Given the description of an element on the screen output the (x, y) to click on. 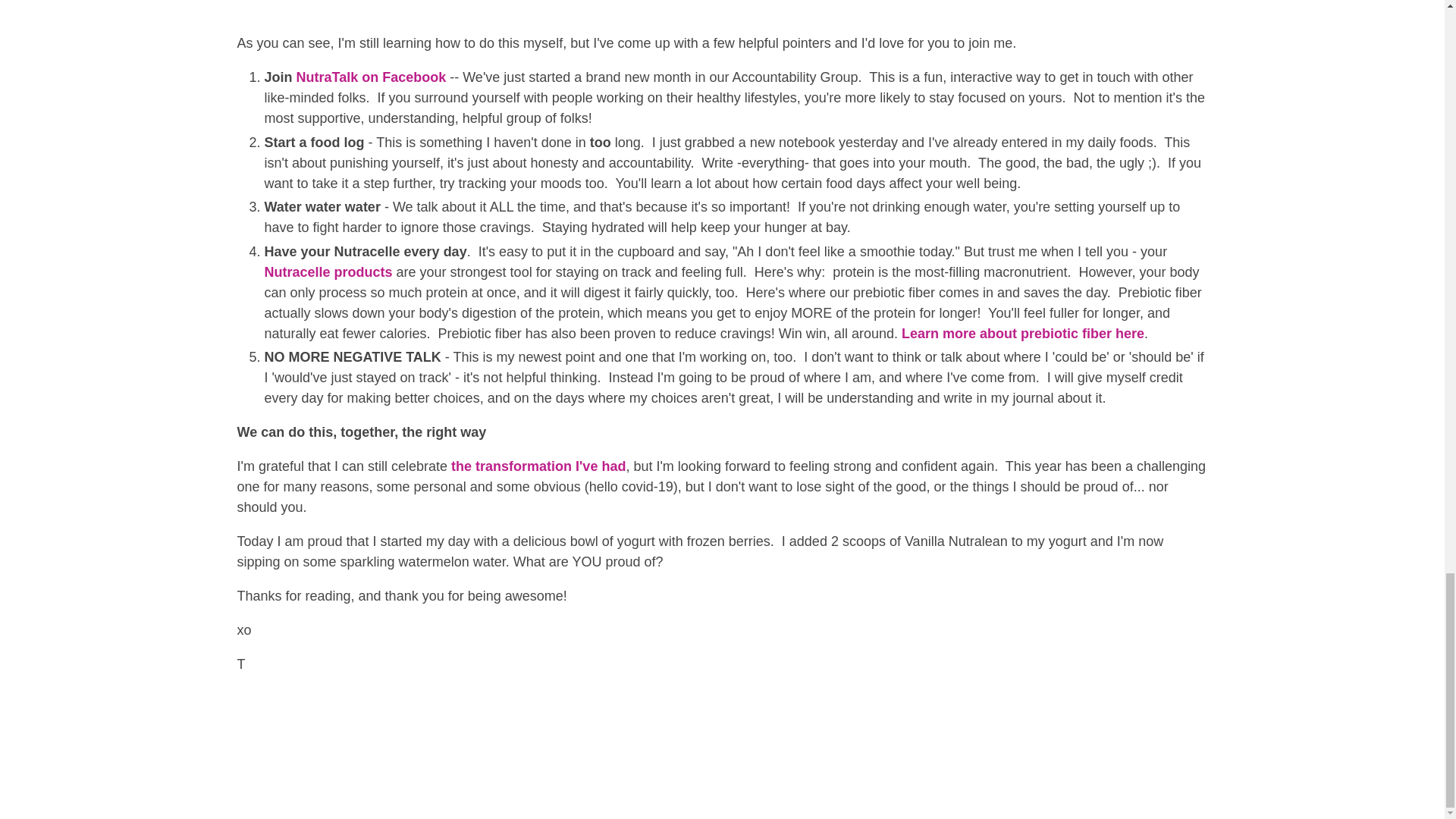
weight loss transformation (538, 466)
allergen-friendly protein products (327, 272)
